Given the description of an element on the screen output the (x, y) to click on. 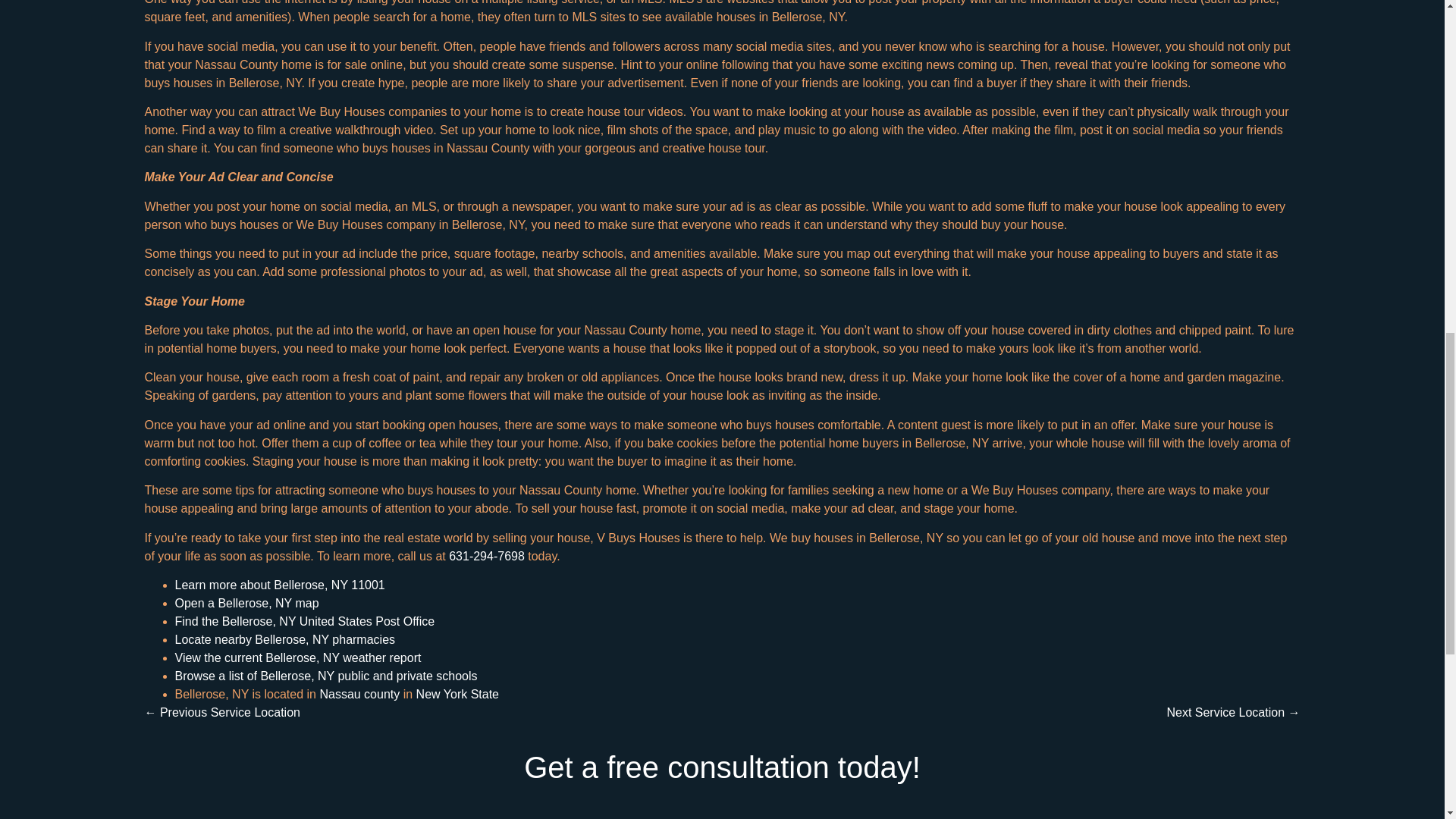
View the current Bellerose, NY weather report (297, 657)
Browse a list of Bellerose, NY public and private schools (325, 675)
Find the Bellerose, NY United States Post Office (303, 621)
Learn more about Bellerose, NY 11001 (279, 584)
Open a Bellerose, NY map (246, 603)
New York State (457, 694)
631-294-7698 (486, 555)
Nassau county (358, 694)
Locate nearby Bellerose, NY pharmacies (284, 639)
